Given the description of an element on the screen output the (x, y) to click on. 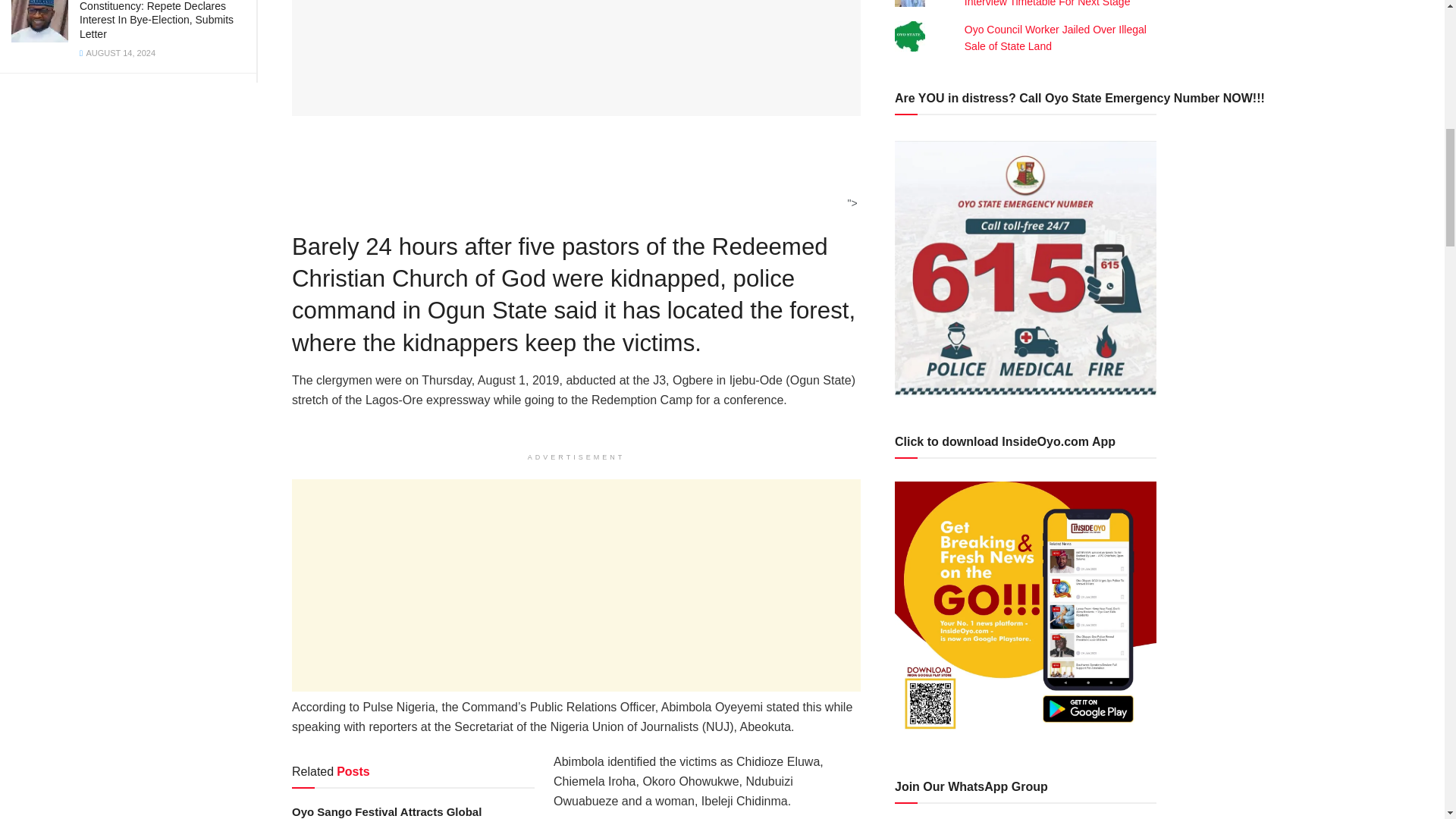
Advertisement (571, 172)
Advertisement (576, 585)
